Given the description of an element on the screen output the (x, y) to click on. 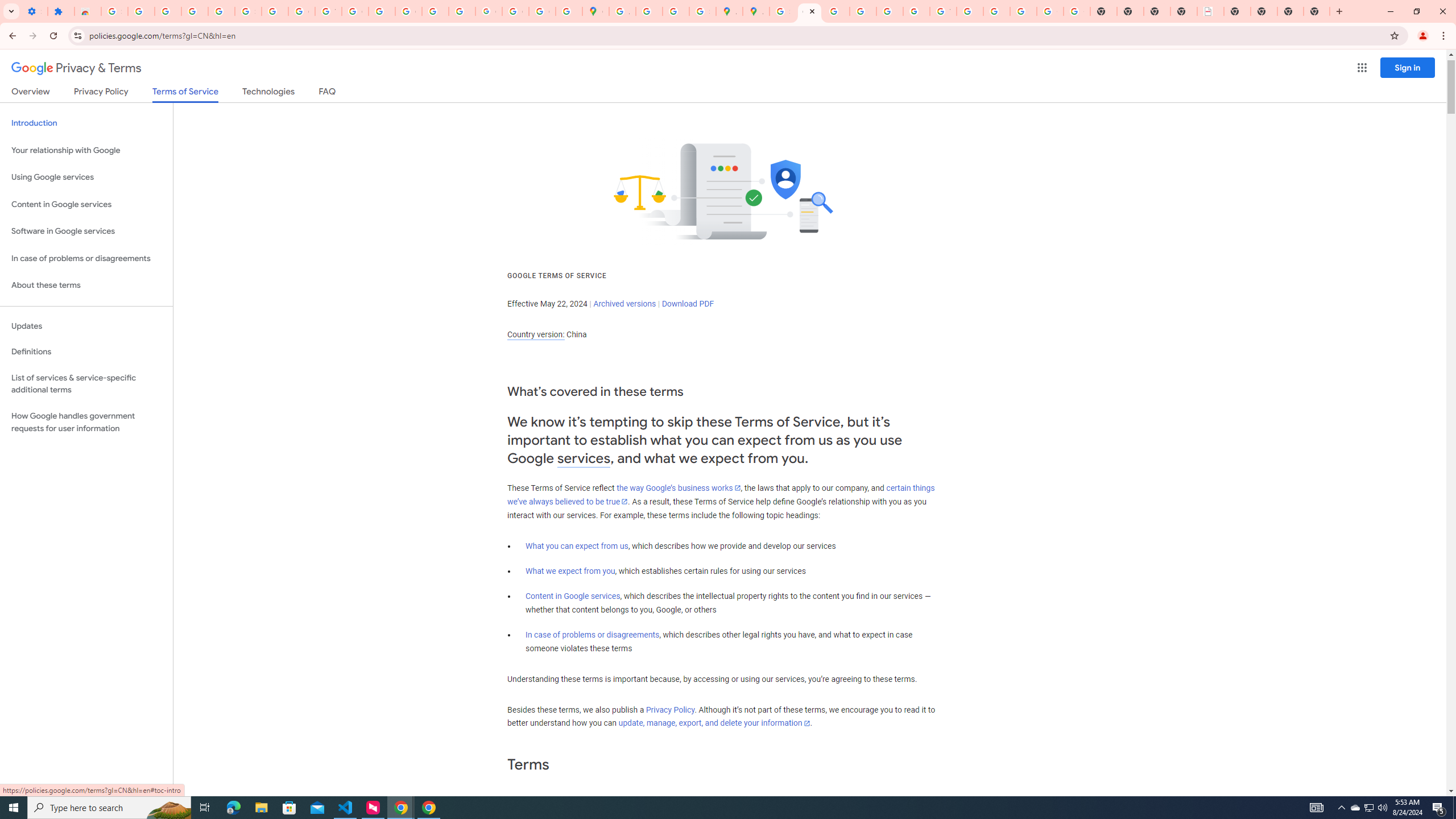
LAAD Defence & Security 2025 | BAE Systems (1210, 11)
Safety in Our Products - Google Safety Center (702, 11)
Sign in - Google Accounts (782, 11)
YouTube (328, 11)
About these terms (86, 284)
Delete photos & videos - Computer - Google Photos Help (167, 11)
